Given the description of an element on the screen output the (x, y) to click on. 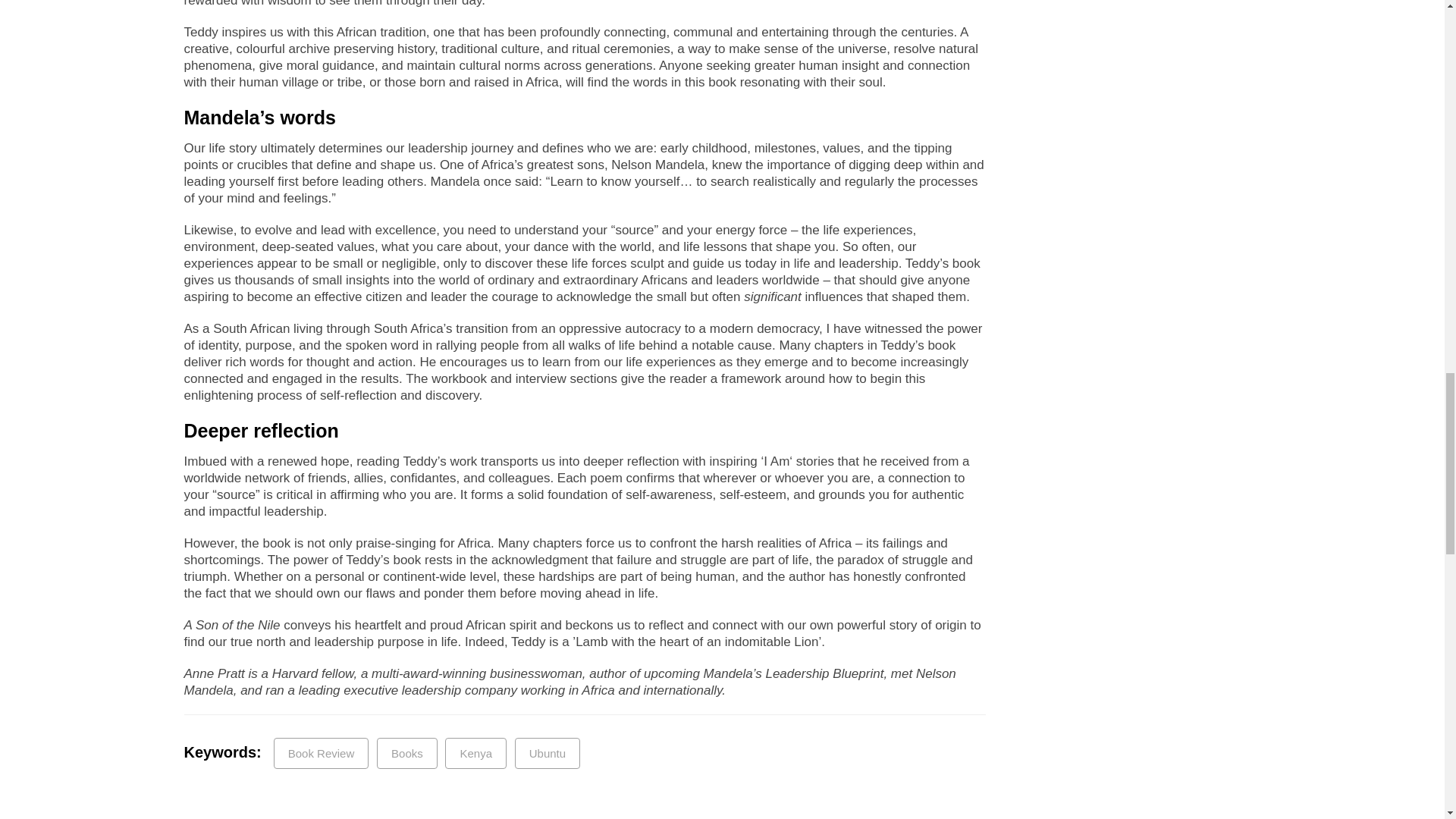
Kenya (475, 753)
Ubuntu (547, 753)
Books (407, 753)
Book Review (321, 753)
